Given the description of an element on the screen output the (x, y) to click on. 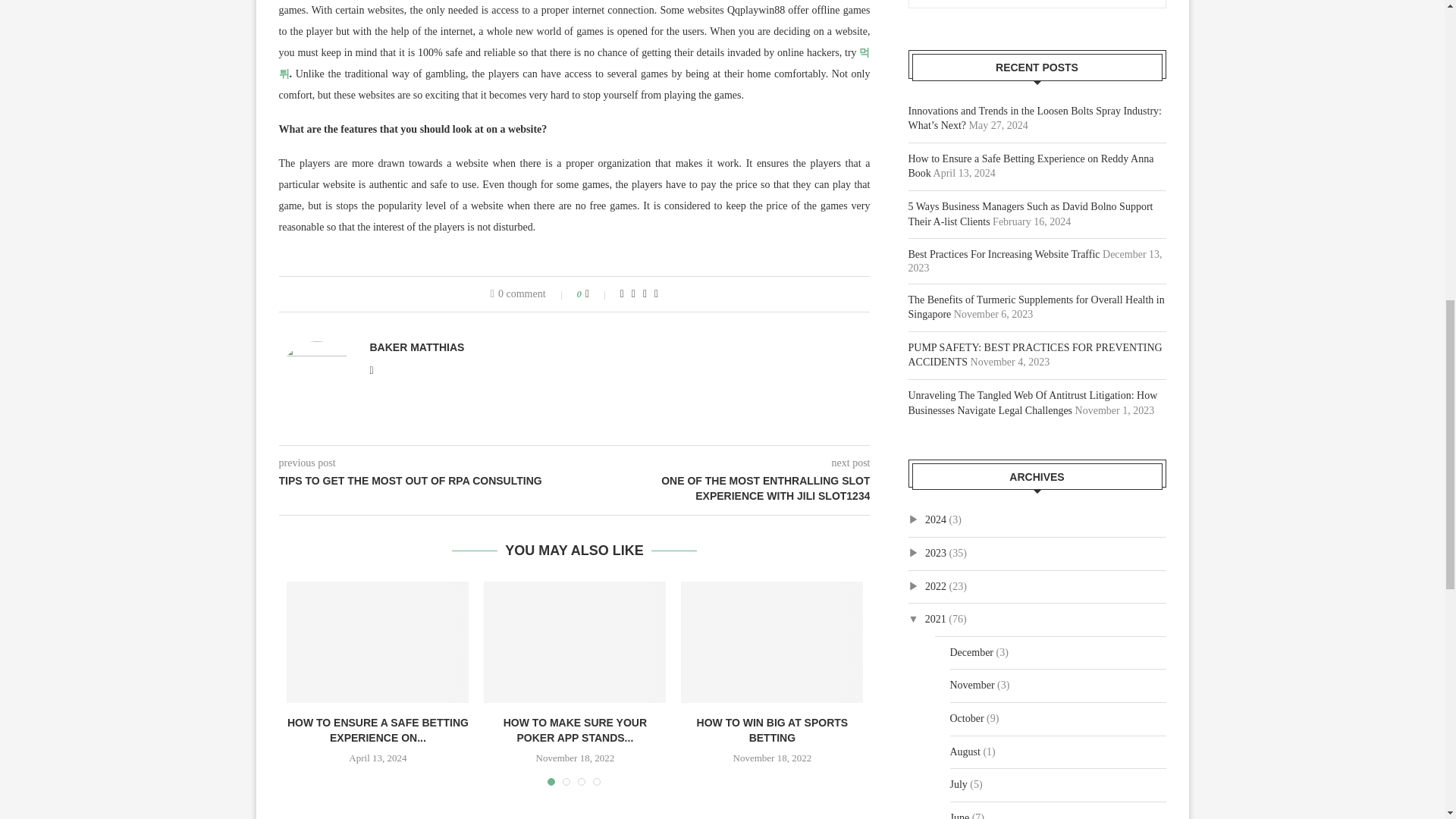
How to win big at sports betting (772, 641)
Author Baker Matthias (416, 346)
How to Ensure a Safe Betting Experience on Reddy Anna Book (377, 641)
How to make sure your poker app stands out (574, 641)
Like (597, 294)
